Given the description of an element on the screen output the (x, y) to click on. 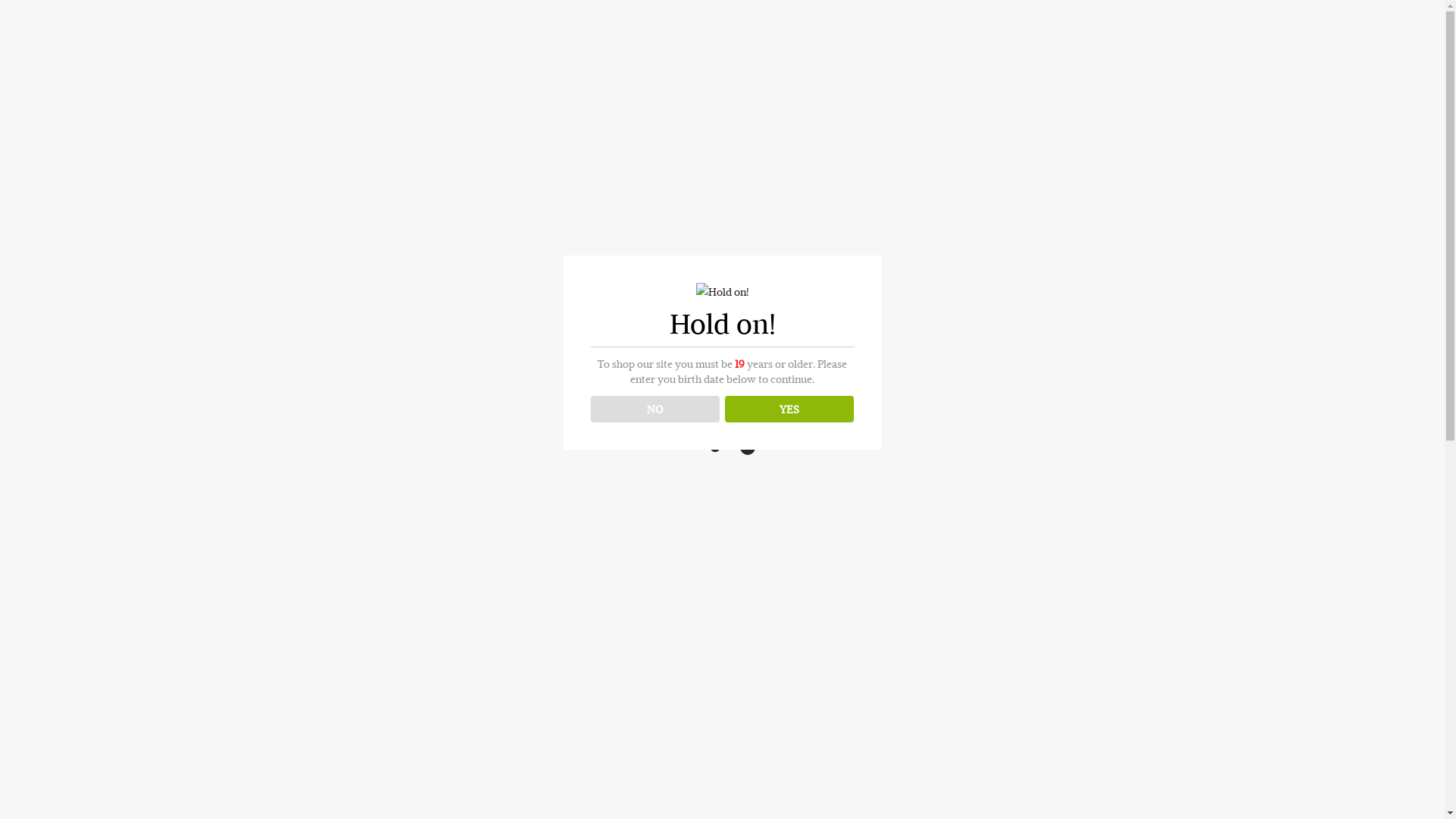
YES Element type: text (789, 408)
NO Element type: text (655, 408)
